Given the description of an element on the screen output the (x, y) to click on. 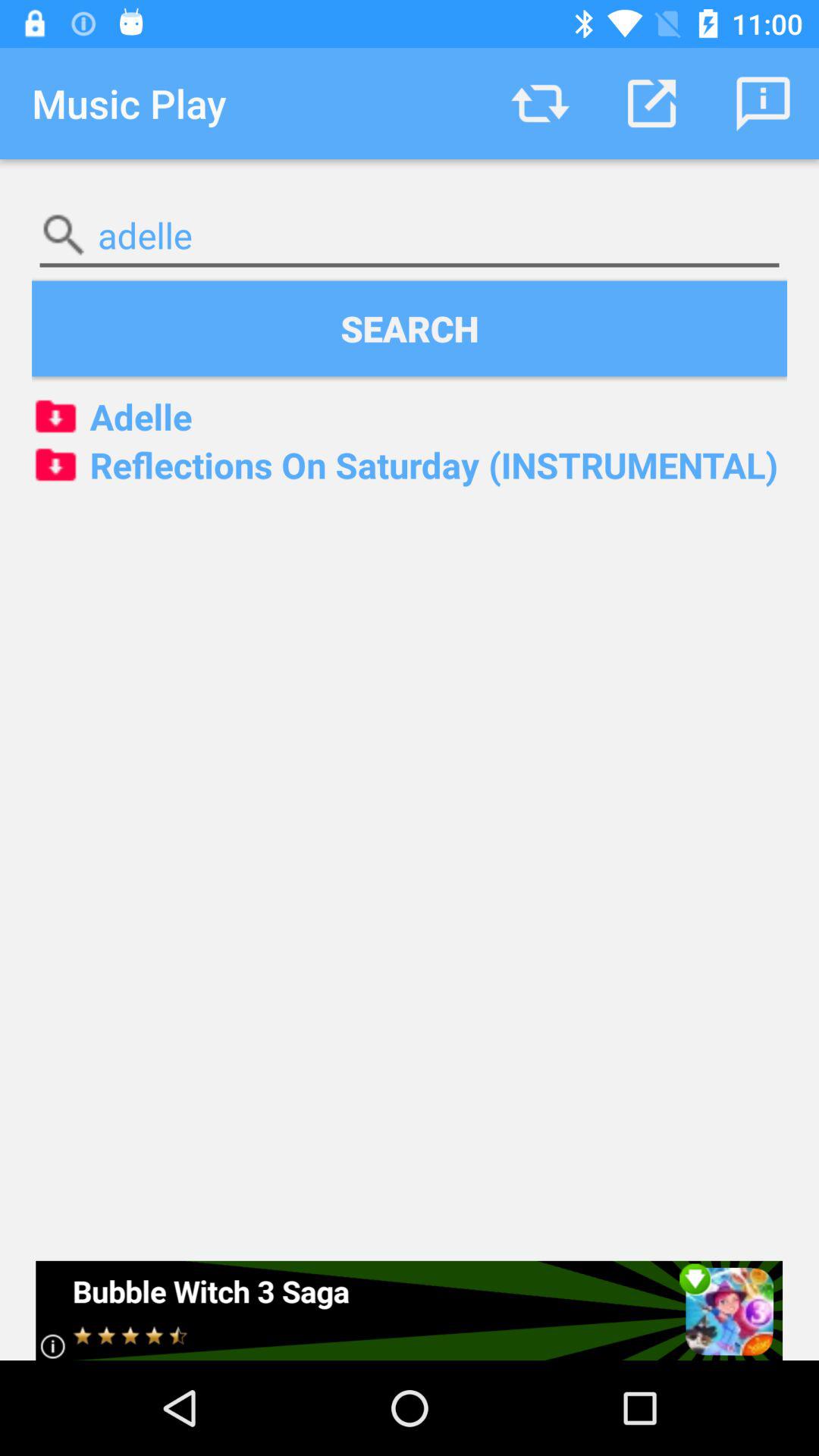
turn on reflections on saturday icon (409, 464)
